Given the description of an element on the screen output the (x, y) to click on. 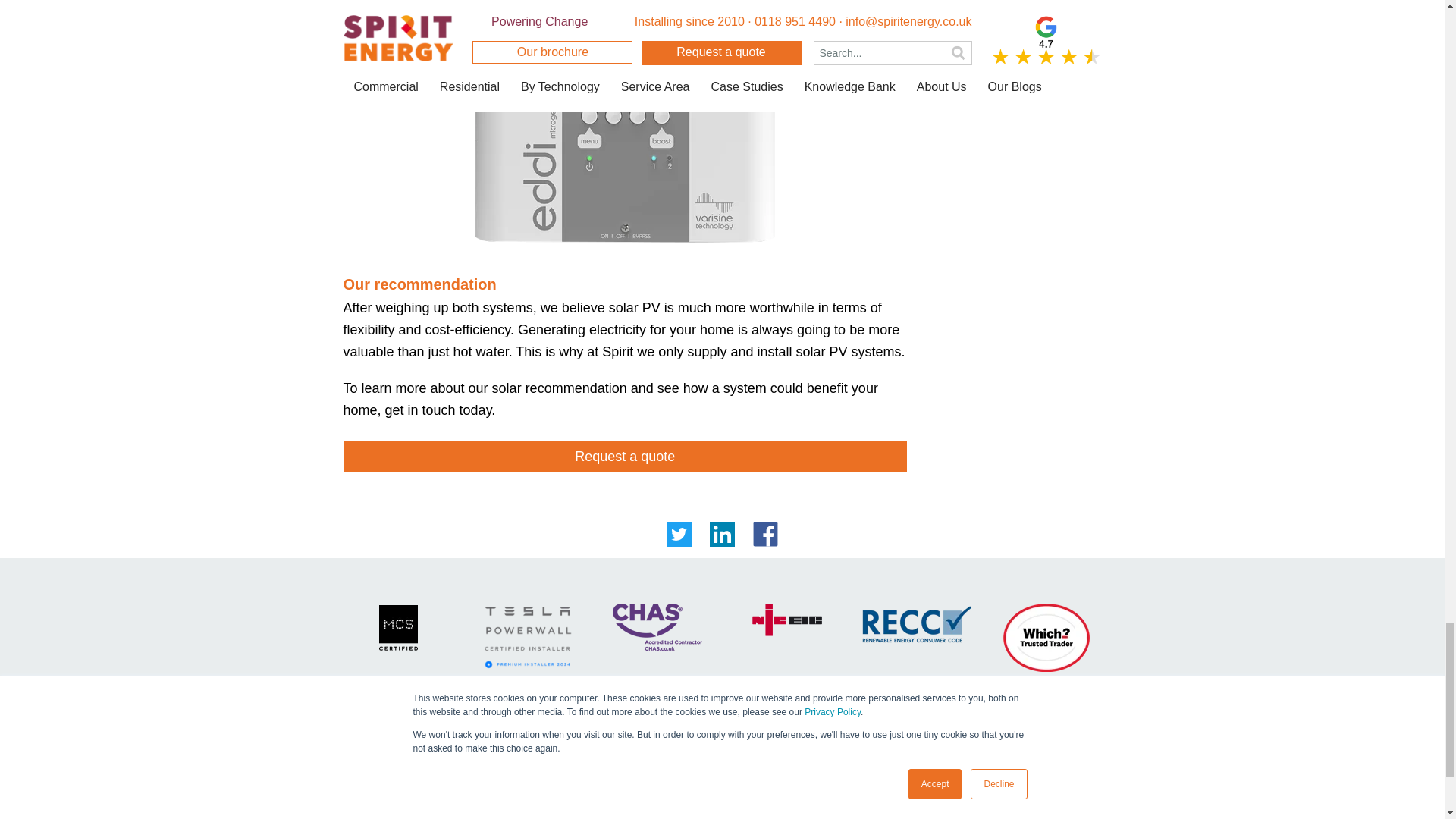
Request a quote (624, 456)
Spirit Energy Which? Trusted Trader certification review  (1046, 637)
Spirit Energy - RECC (916, 623)
CI-Premium-Installer-2024footer (526, 636)
Spirit Energy - NICEIC logo (787, 619)
Spirit Energy CHAS Accredited (656, 626)
